Given the description of an element on the screen output the (x, y) to click on. 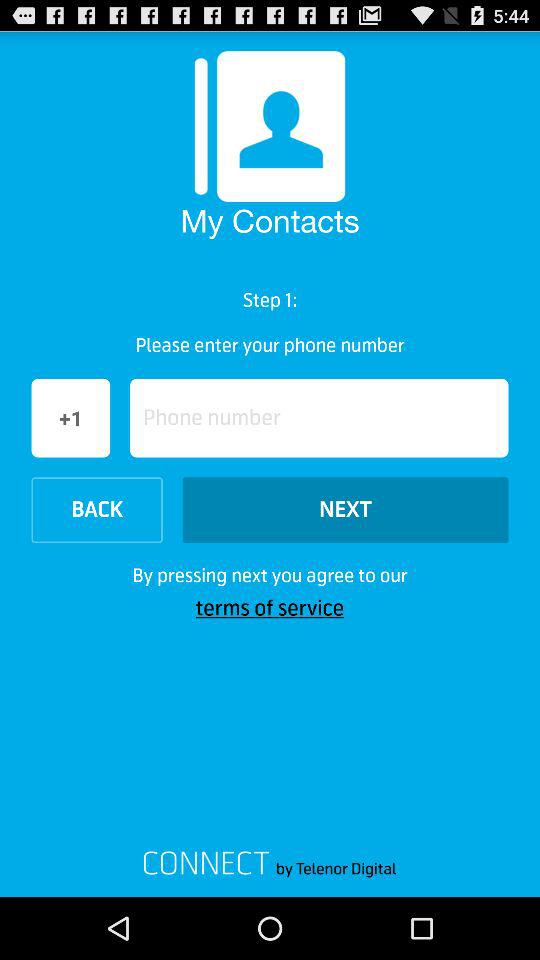
click item below please enter your icon (319, 417)
